Given the description of an element on the screen output the (x, y) to click on. 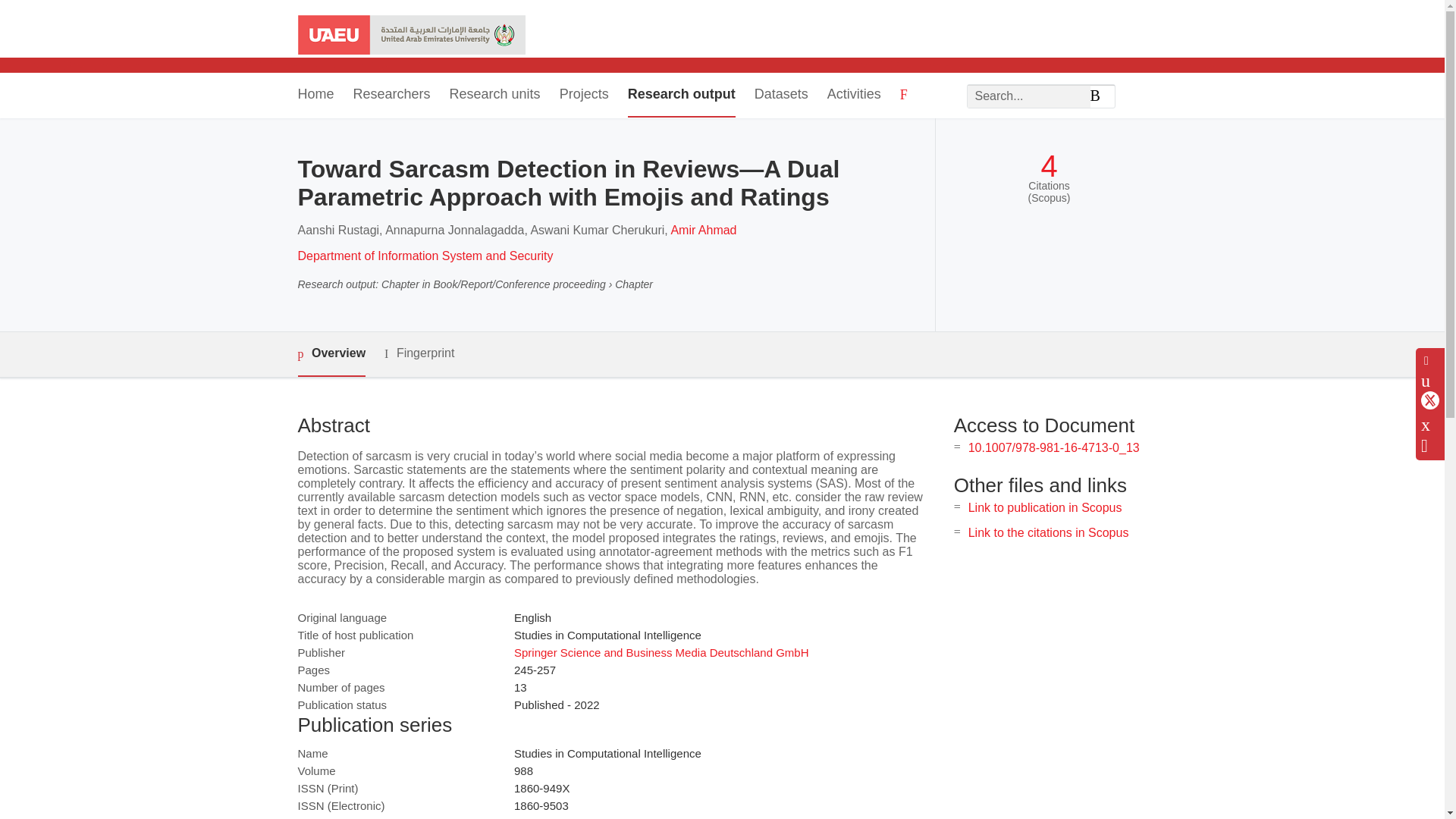
Link to publication in Scopus (1045, 507)
Fingerprint (419, 353)
Overview (331, 354)
Department of Information System and Security (425, 255)
Research output (681, 94)
Activities (853, 94)
Research units (494, 94)
United Arab Emirates University Home (410, 36)
Projects (583, 94)
Springer Science and Business Media Deutschland GmbH (661, 652)
